Given the description of an element on the screen output the (x, y) to click on. 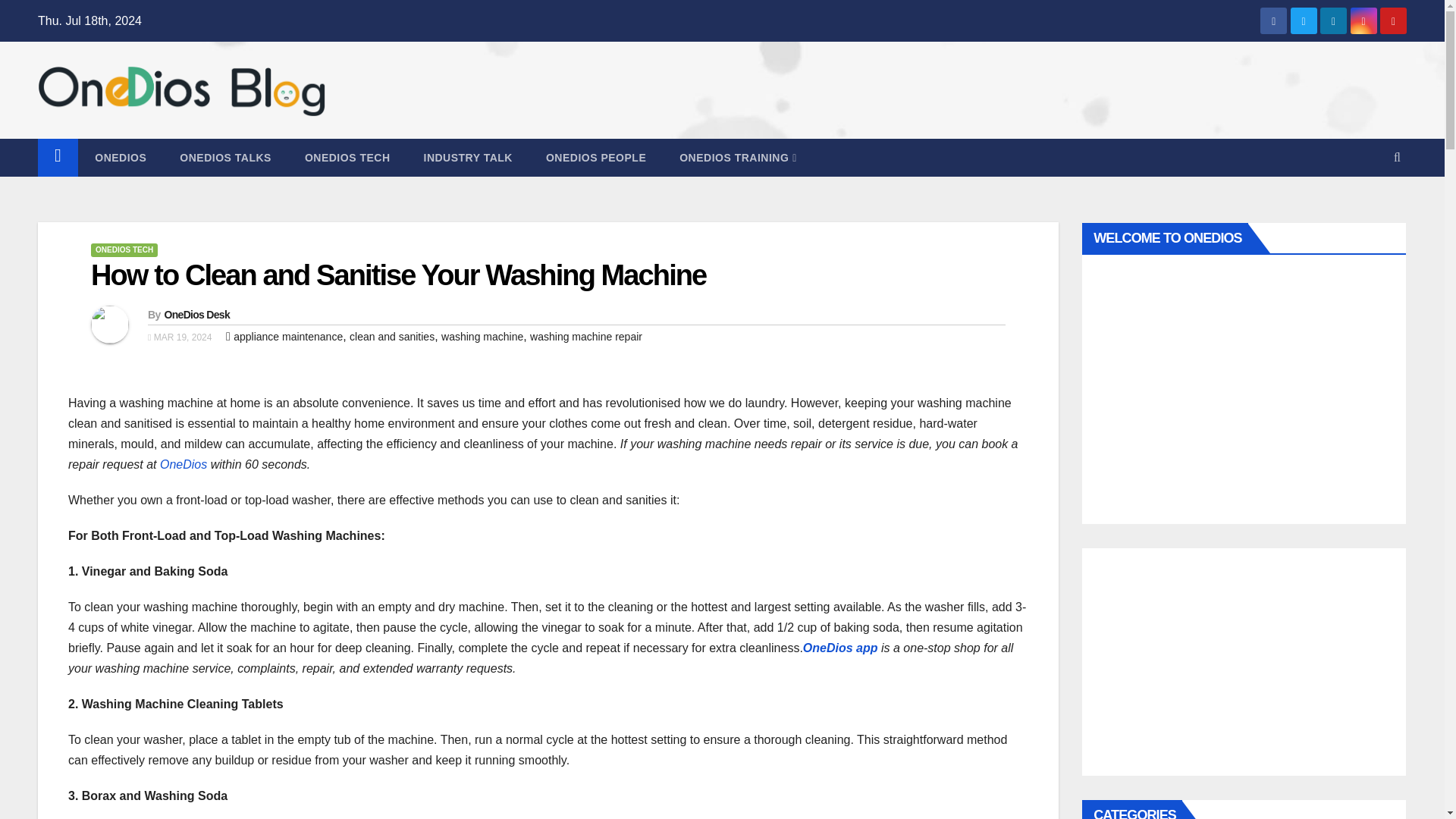
ONEDIOS TALKS (225, 157)
INDUSTRY TALK (467, 157)
washing machine (481, 336)
ONEDIOS TECH (123, 250)
washing machine repair (585, 336)
ONEDIOS (120, 157)
appliance maintenance (287, 336)
Advertisement (1243, 662)
How to Clean and Sanitise Your Washing Machine (398, 275)
clean and sanities (391, 336)
OneDios (183, 463)
ONEDIOS TRAINING (737, 157)
ONEDIOS PEOPLE (595, 157)
ONEDIOS TECH (347, 157)
OneDios app  (841, 647)
